Given the description of an element on the screen output the (x, y) to click on. 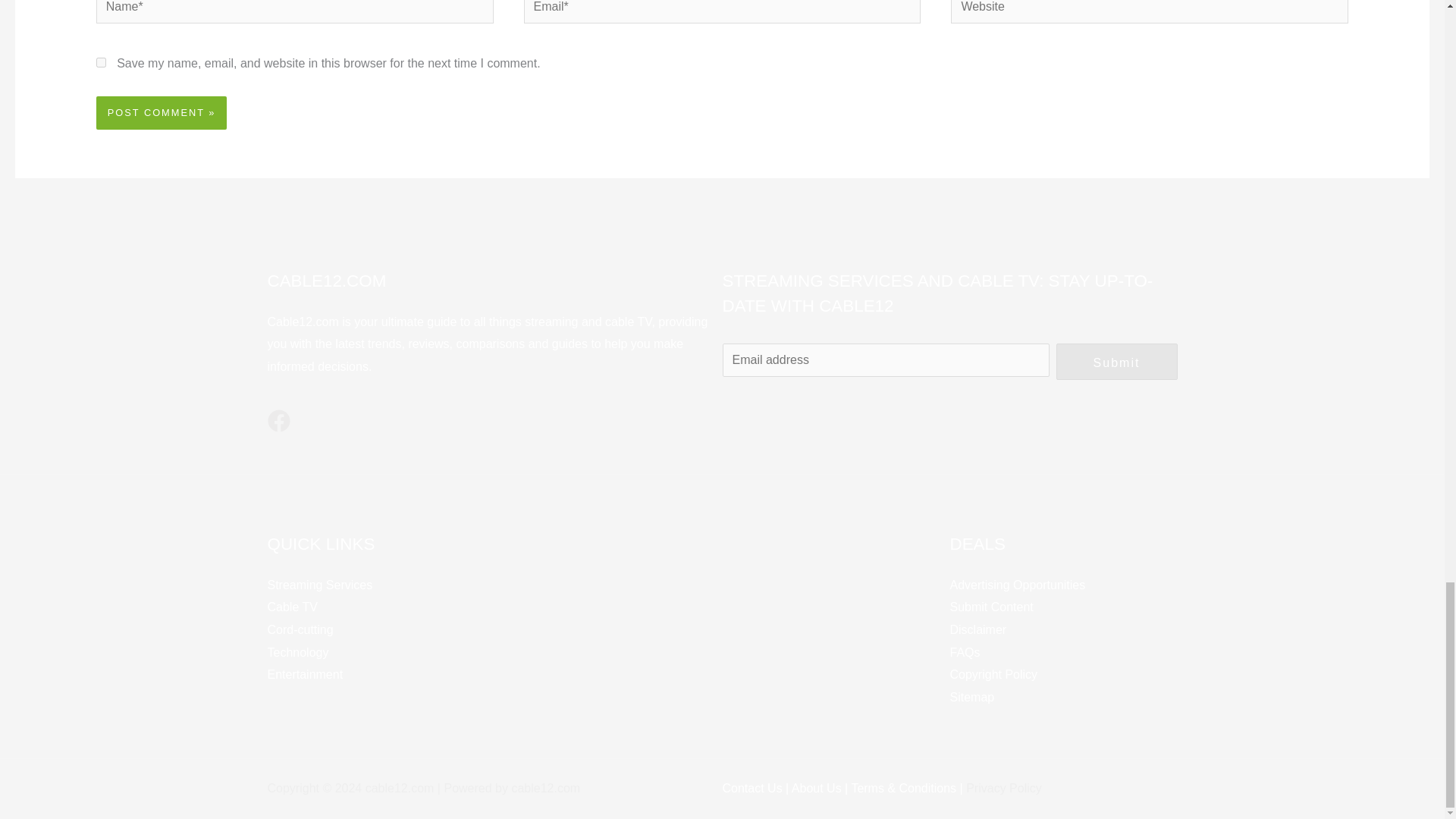
Submit (1115, 361)
Streaming Services (319, 584)
Technology (297, 652)
Copyright Policy (992, 674)
Sitemap (971, 697)
Cable TV (291, 606)
About Us (818, 788)
FAQs (964, 652)
yes (101, 62)
Cord-cutting (299, 629)
Disclaimer (977, 629)
Advertising Opportunities (1016, 584)
Privacy Policy (1004, 788)
Submit Content (990, 606)
Entertainment (304, 674)
